Given the description of an element on the screen output the (x, y) to click on. 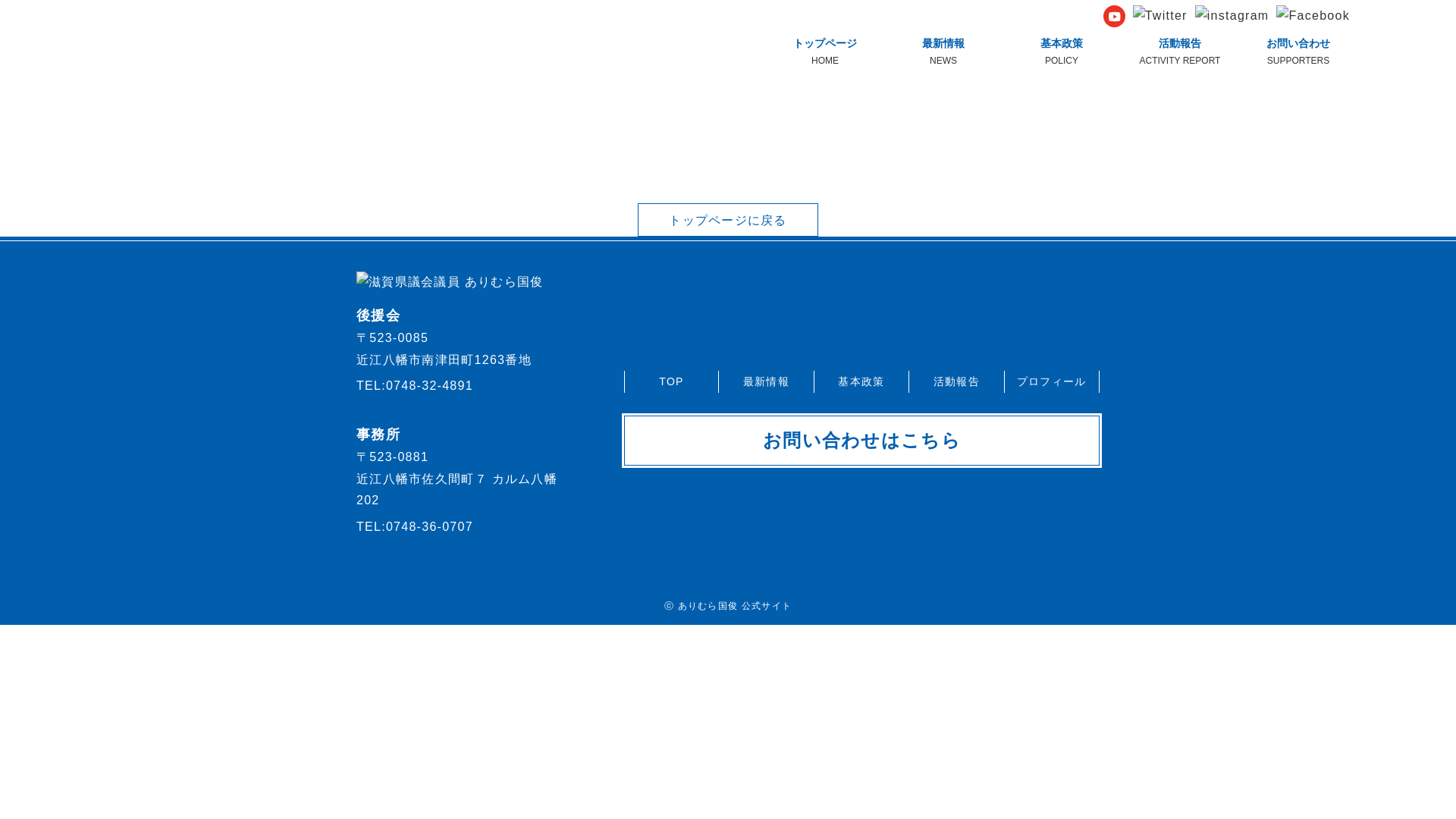
TOP (670, 381)
